Given the description of an element on the screen output the (x, y) to click on. 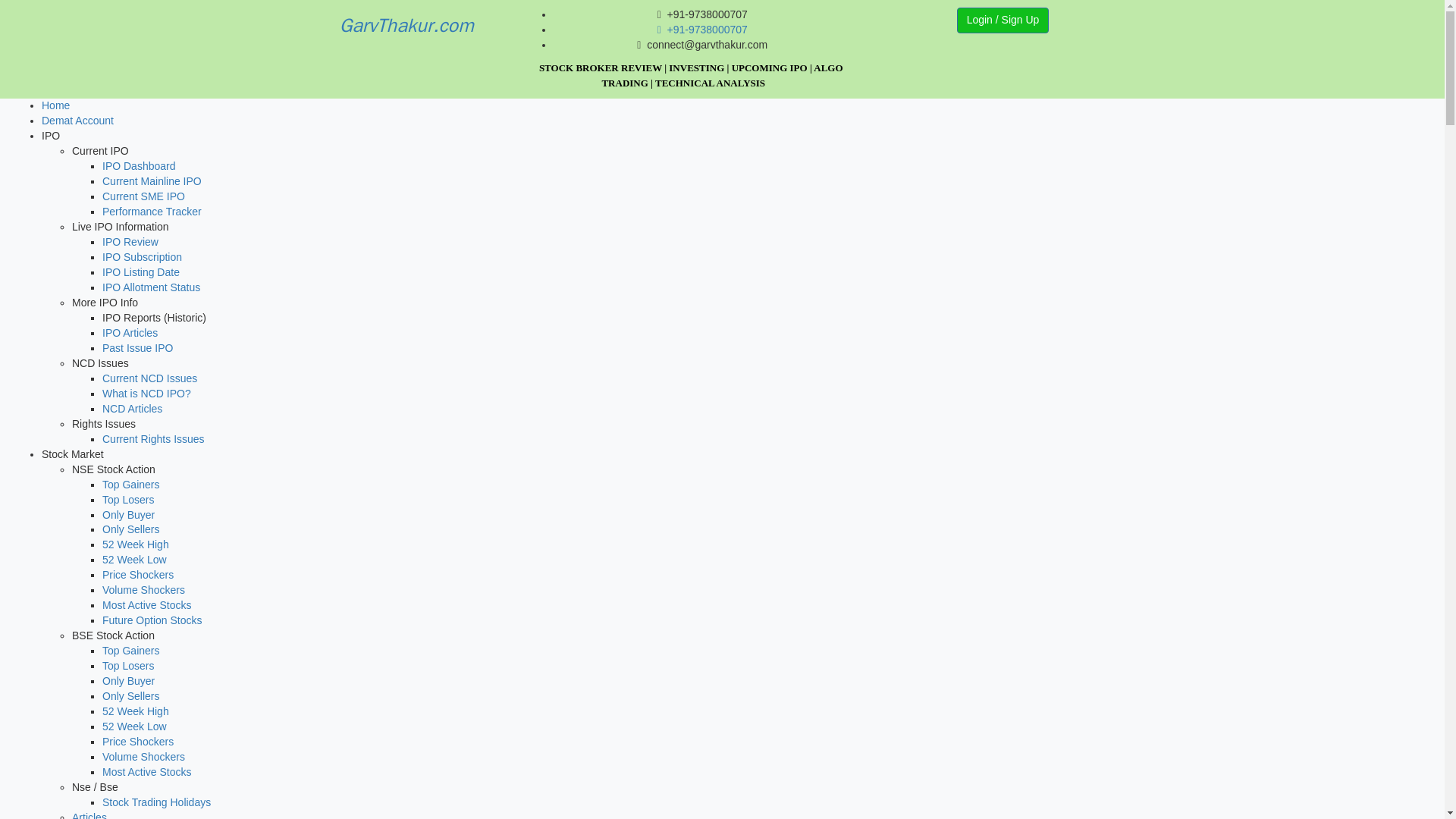
Current SME IPO (142, 196)
Only Buyer (127, 513)
More IPO Info (104, 302)
Performance Tracker (151, 211)
Only Sellers (129, 529)
Most Active Stocks (145, 604)
Open Demat Account (77, 120)
Check IPO Allotment (150, 287)
Past Issue IPO (137, 347)
IPO (50, 135)
Performance Tracker (151, 211)
NCD Issues (100, 363)
IPO Dashboard (138, 165)
NCD IPO (145, 393)
Upcoming IPO Date (140, 272)
